Given the description of an element on the screen output the (x, y) to click on. 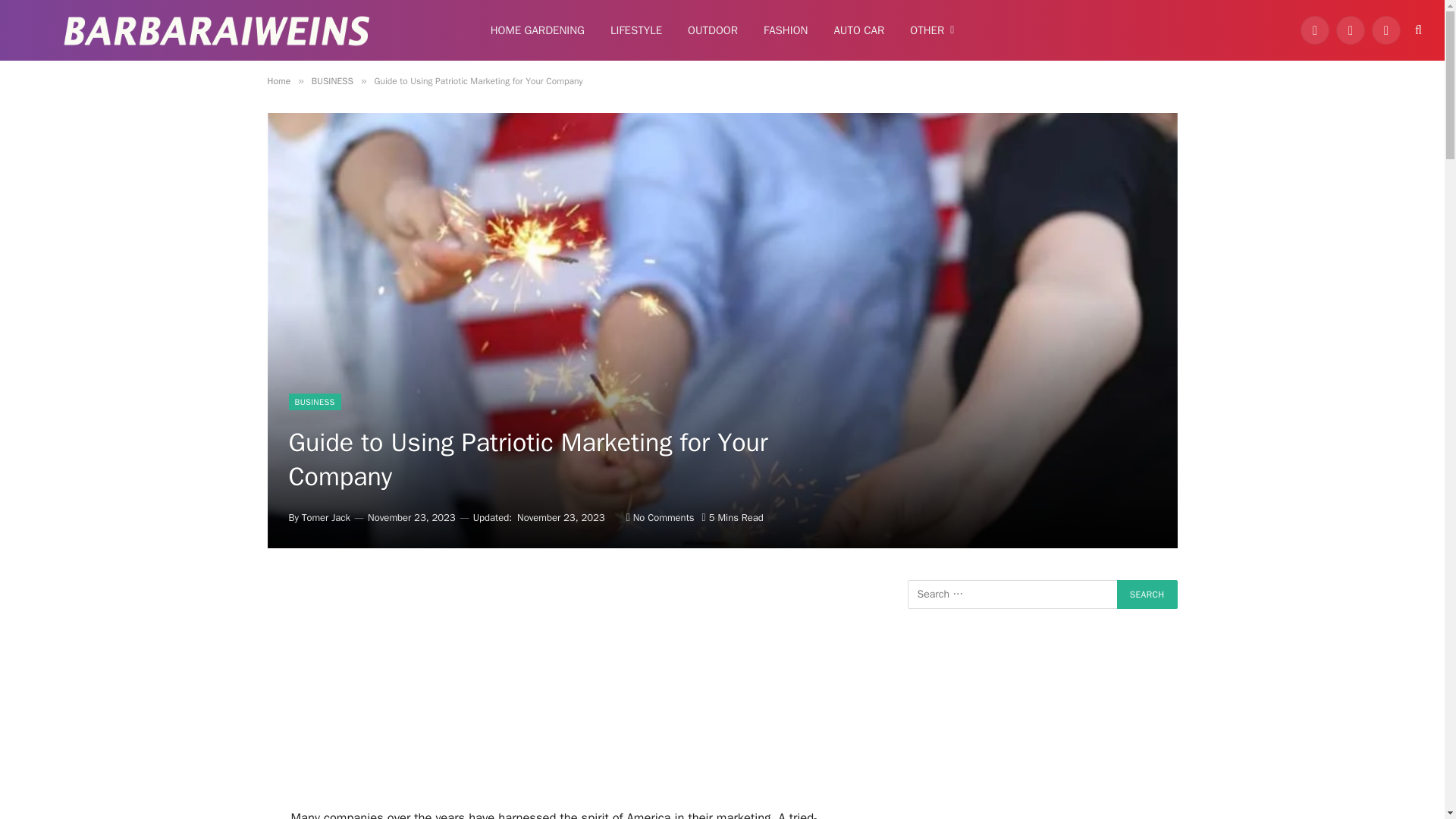
OUTDOOR (713, 30)
Posts by Tomer Jack (325, 517)
Search (1146, 594)
Search (1146, 594)
LIFESTYLE (635, 30)
AUTO CAR (858, 30)
HOME GARDENING (536, 30)
BARBARAIWEINS (216, 30)
FASHION (786, 30)
OTHER (931, 30)
Advertisement (566, 694)
